Given the description of an element on the screen output the (x, y) to click on. 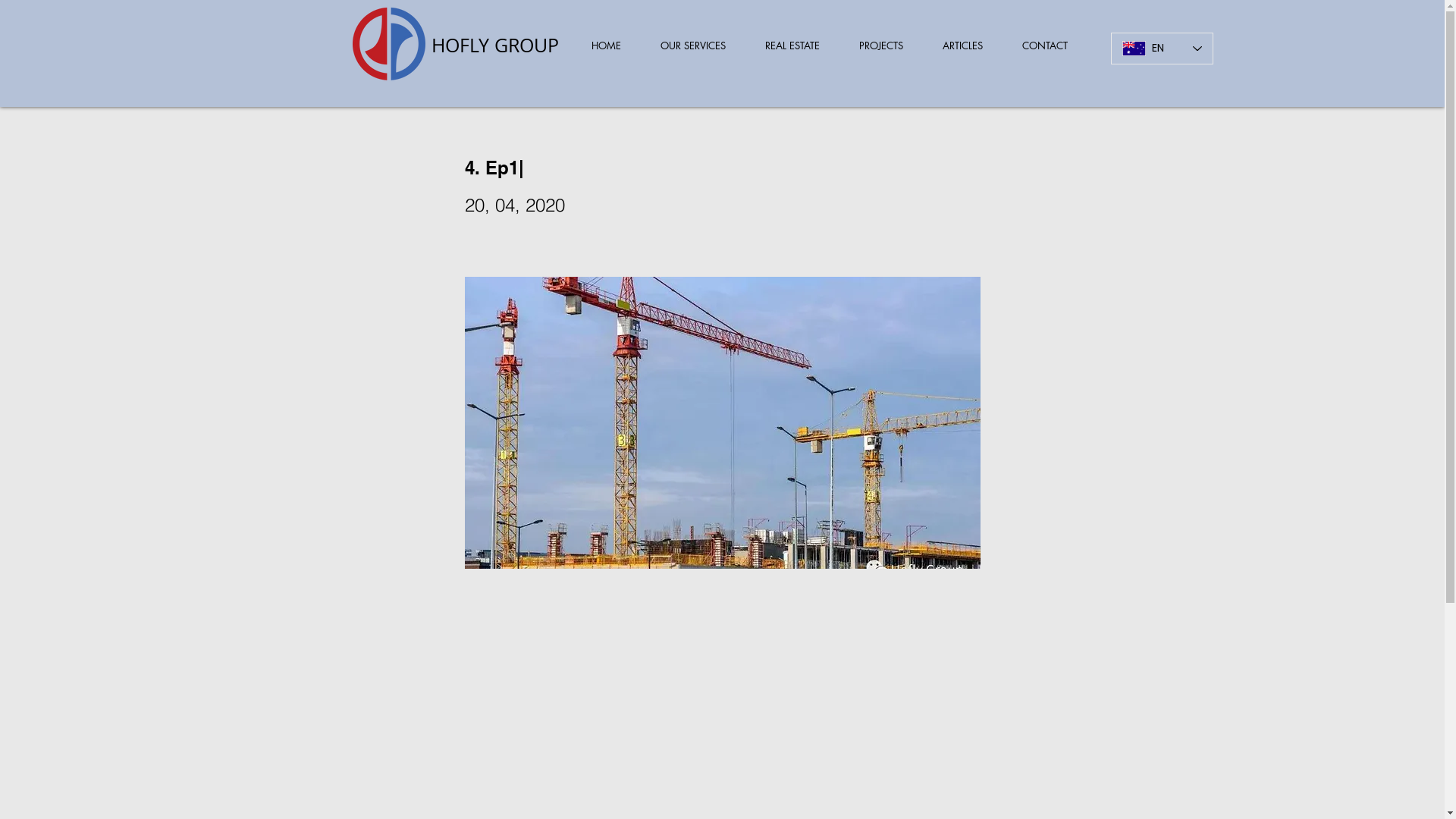
REAL ESTATE Element type: text (791, 45)
HOFLY GROUP Element type: text (494, 44)
ARTICLES Element type: text (961, 45)
PROJECTS Element type: text (880, 45)
CONTACT Element type: text (1044, 45)
OUR SERVICES Element type: text (692, 45)
HOME Element type: text (605, 45)
